Given the description of an element on the screen output the (x, y) to click on. 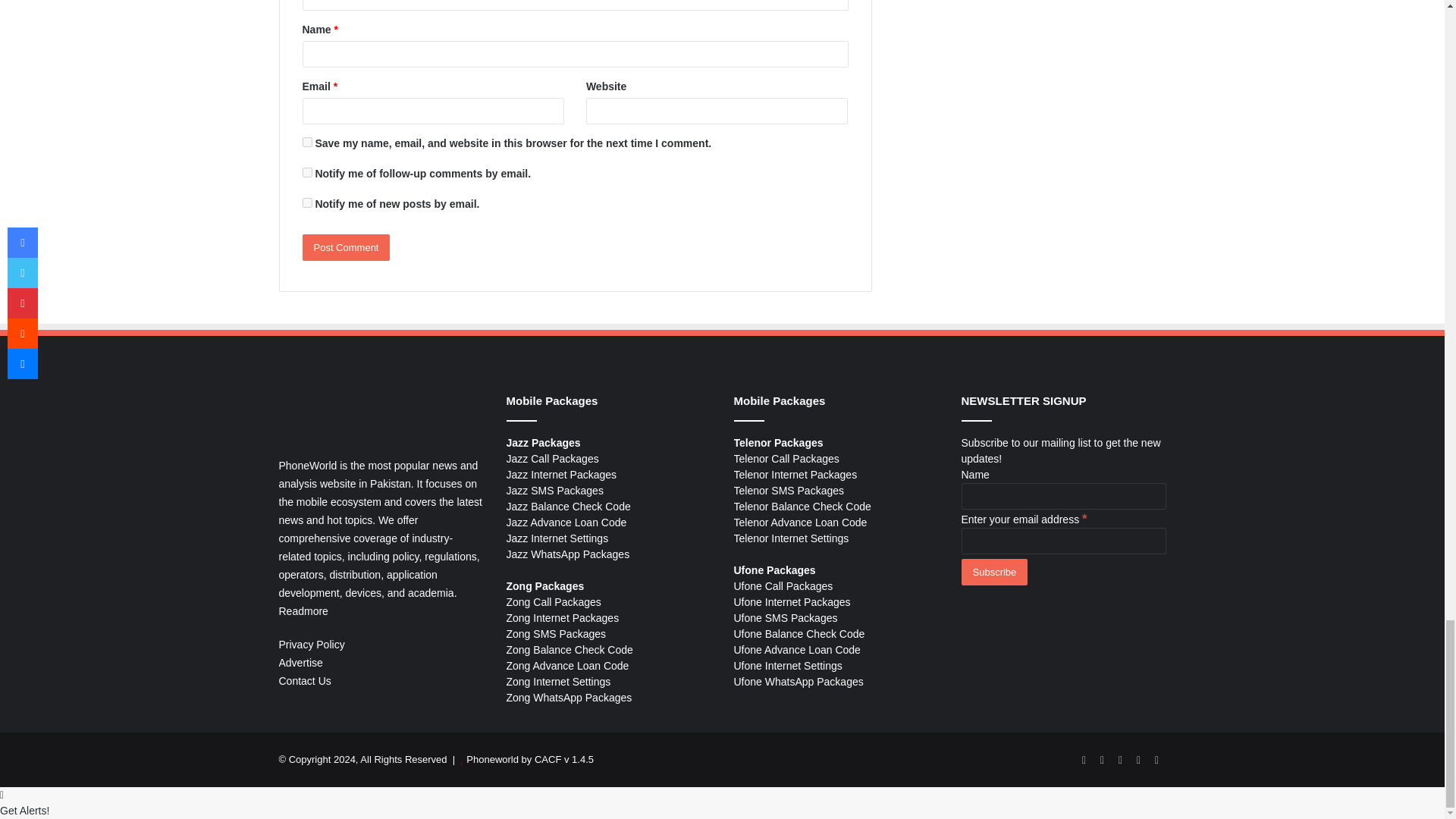
subscribe (306, 203)
Subscribe (993, 571)
subscribe (306, 172)
yes (306, 142)
Post Comment (345, 247)
